Given the description of an element on the screen output the (x, y) to click on. 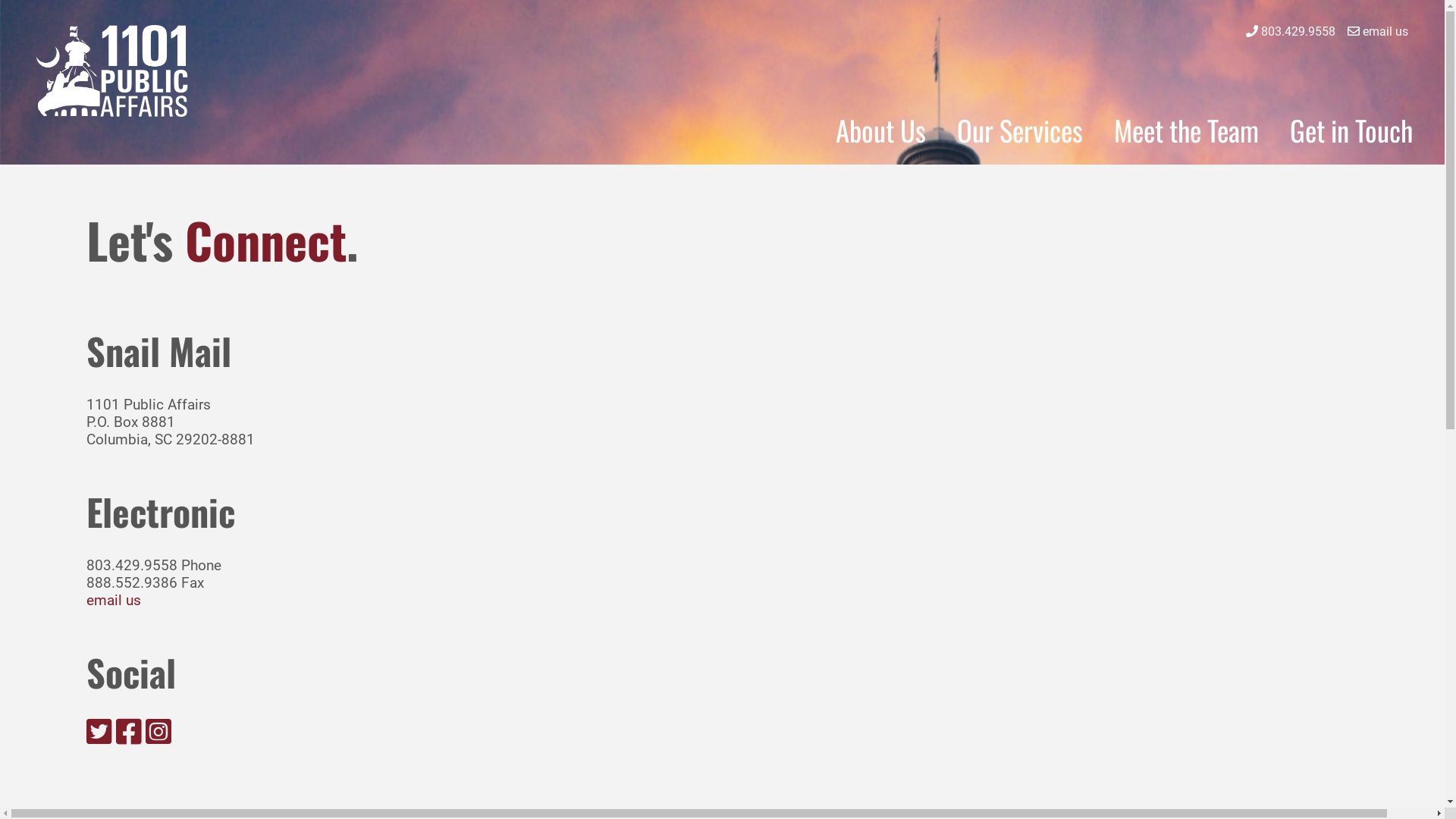
Instagram Element type: hover (158, 731)
Meet the Team Element type: text (1185, 129)
Twitter Element type: hover (99, 731)
Facebook Element type: hover (128, 731)
email us Element type: text (1385, 31)
803.429.9558 Element type: text (1298, 31)
Our Services Element type: text (1019, 129)
Twitter Element type: hover (99, 737)
Facebook Element type: hover (128, 737)
About Us Element type: text (880, 129)
email us Element type: text (113, 599)
Get in Touch Element type: text (1350, 129)
Instagram Element type: hover (158, 737)
